Given the description of an element on the screen output the (x, y) to click on. 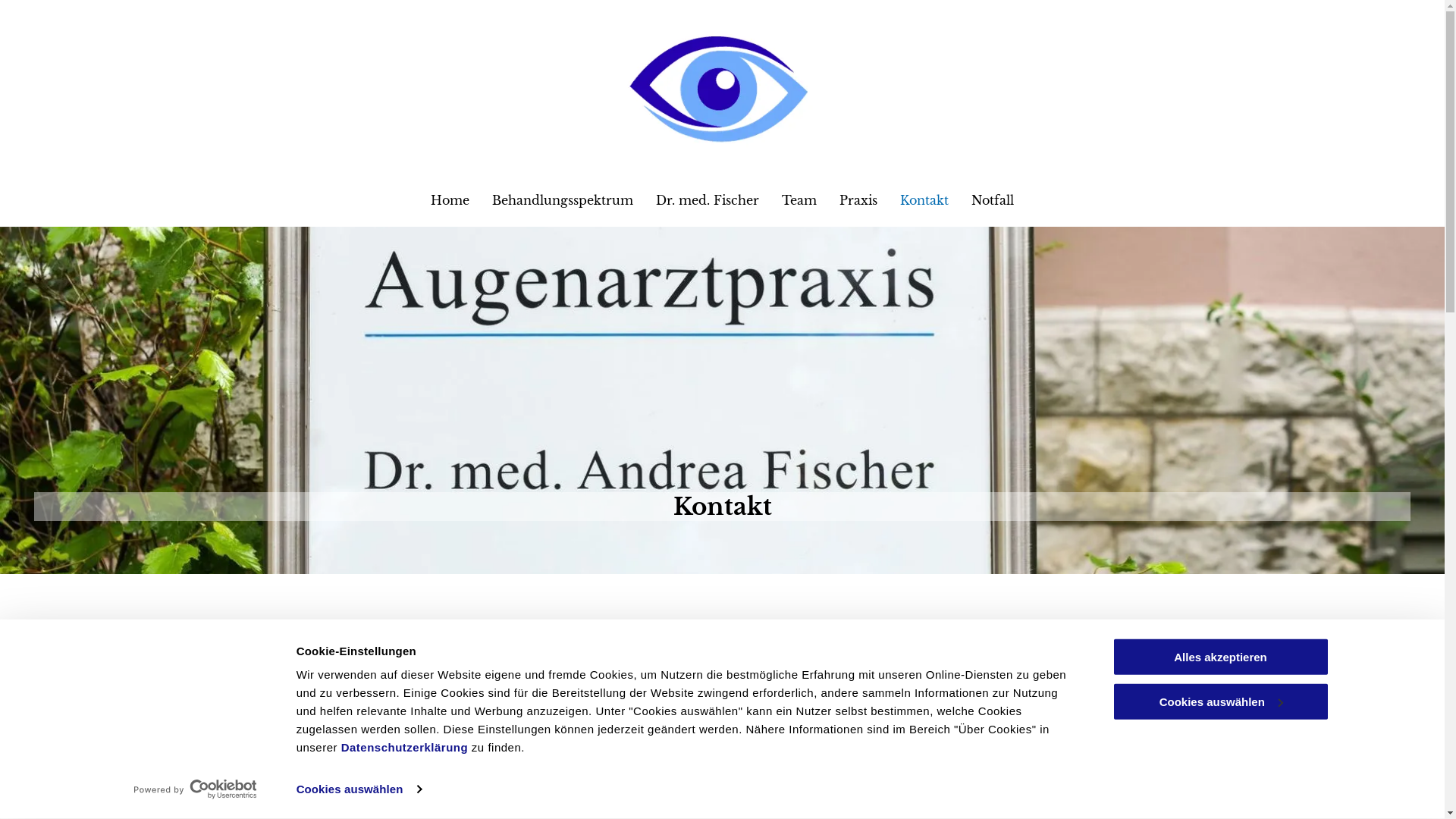
Team Element type: text (799, 199)
052 212 49 77 Element type: text (399, 748)
augenarztpraxis@hin.ch Element type: text (431, 795)
052 212 09 20 Element type: text (371, 772)
Home Element type: text (449, 199)
Alles akzeptieren Element type: text (1219, 656)
Behandlungsspektrum Element type: text (562, 199)
Praxis Element type: text (858, 199)
Kontakt Element type: text (924, 199)
Notfall Element type: text (992, 199)
Dr. med. Fischer Element type: text (707, 199)
